Given the description of an element on the screen output the (x, y) to click on. 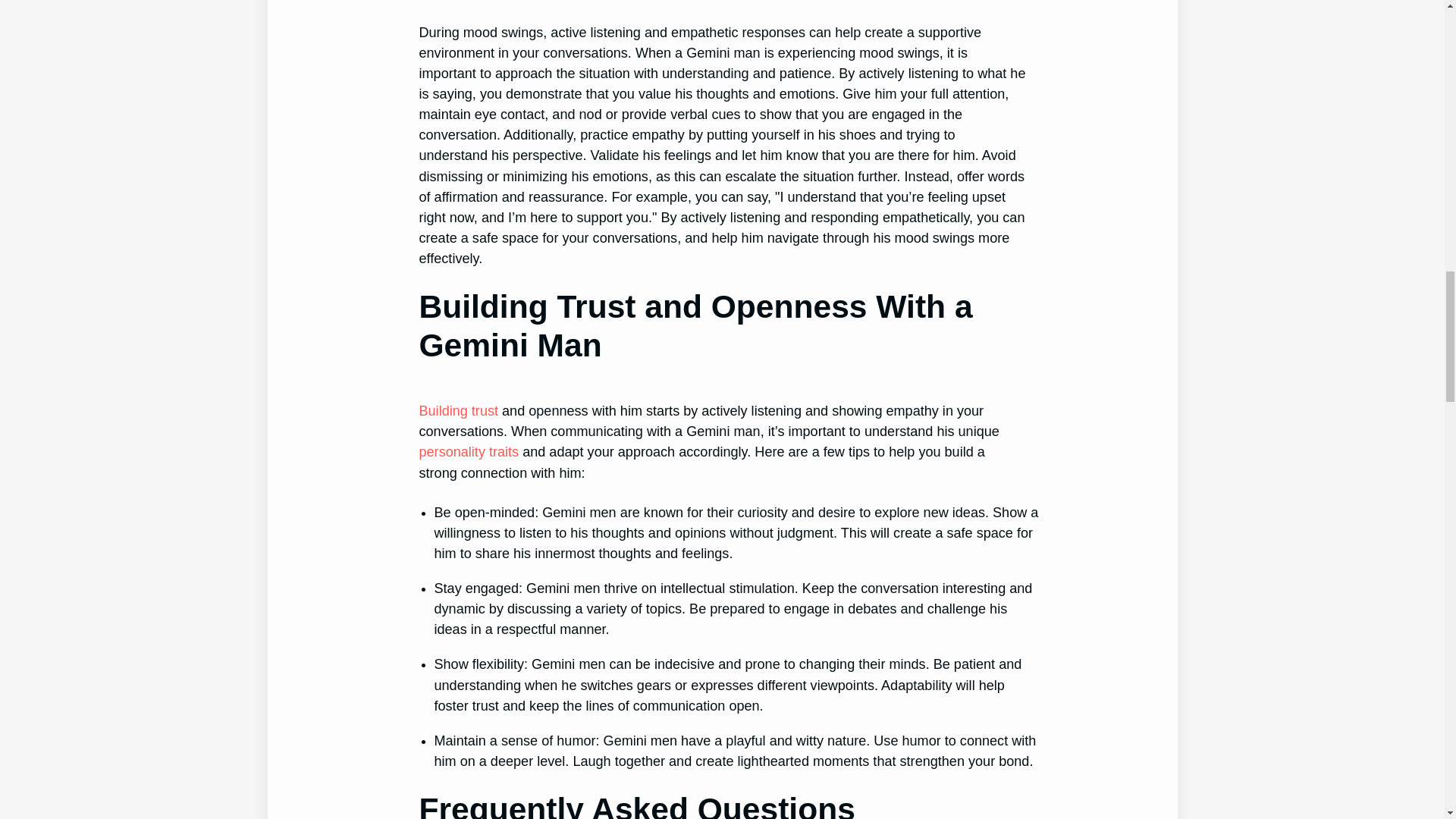
Building trust (458, 410)
Building trust (458, 410)
personality traits (468, 451)
personality traits (468, 451)
